Given the description of an element on the screen output the (x, y) to click on. 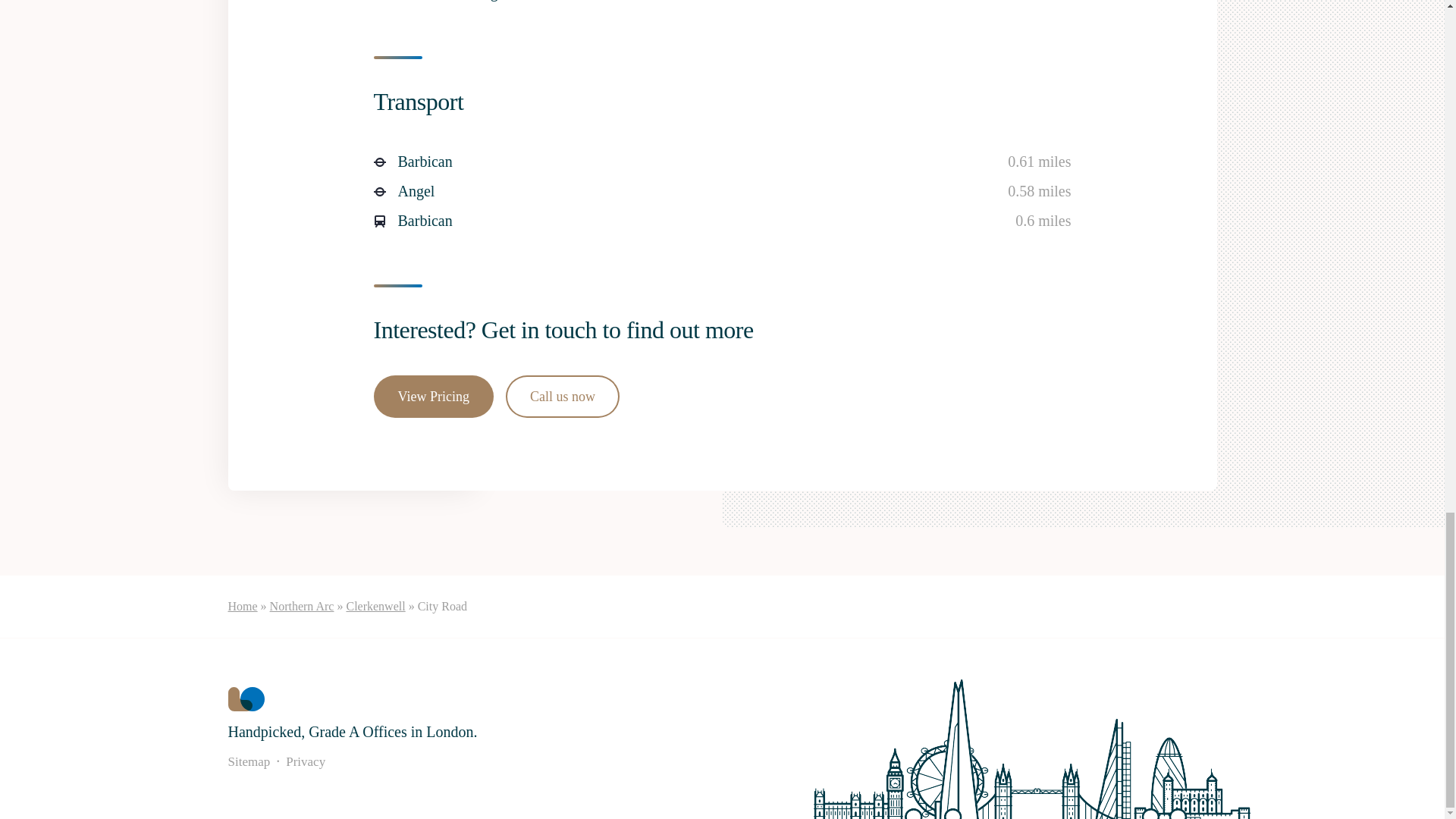
Sitemap (248, 761)
Home (242, 605)
Privacy (304, 761)
View Pricing (432, 396)
Clerkenwell (375, 605)
Call us now (562, 396)
Northern Arc (301, 605)
